Given the description of an element on the screen output the (x, y) to click on. 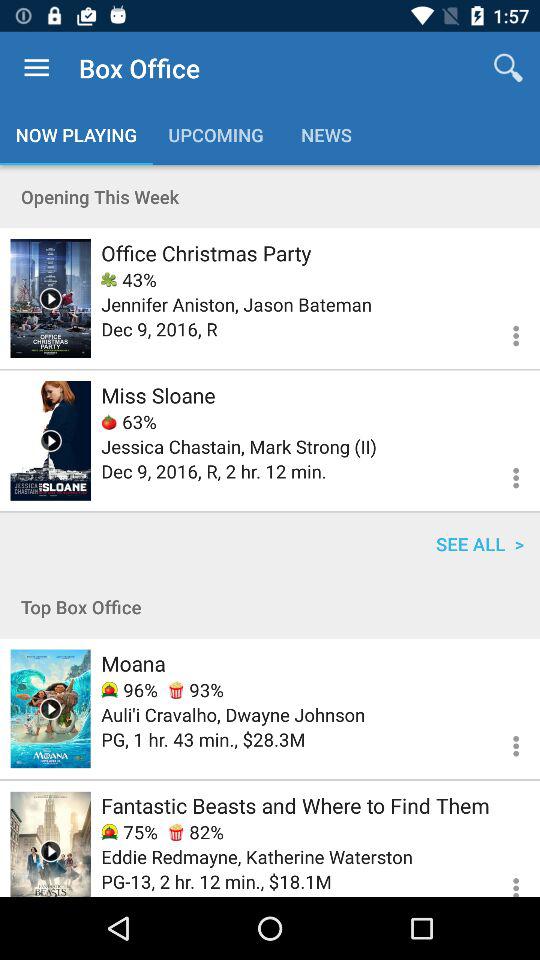
turn off 93% (195, 689)
